Given the description of an element on the screen output the (x, y) to click on. 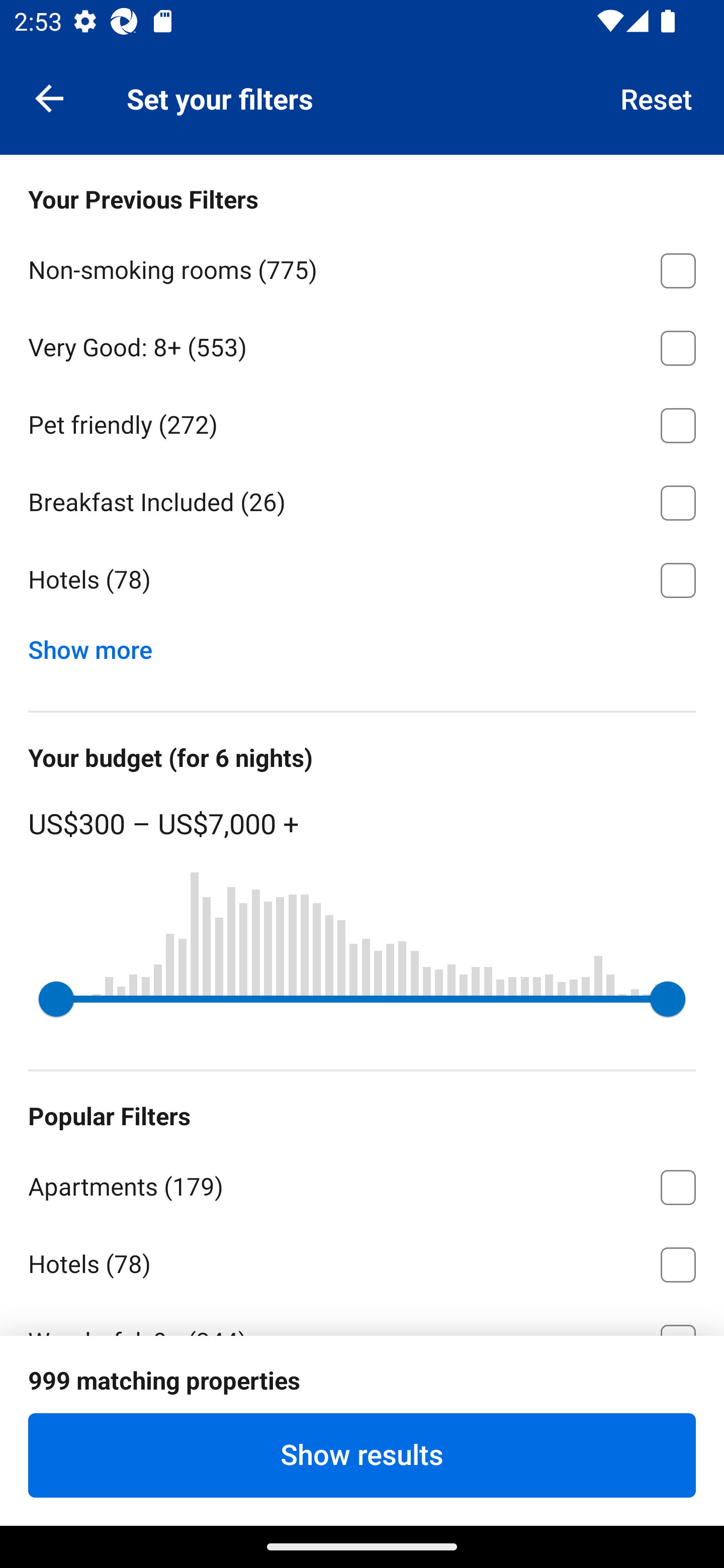
Navigate up (49, 97)
Reset (656, 97)
Non-smoking rooms ⁦(775) (361, 266)
Very Good: 8+ ⁦(553) (361, 344)
Pet friendly ⁦(272) (361, 422)
Breakfast Included ⁦(26) (361, 498)
Hotels ⁦(78) (361, 579)
Show more (97, 645)
Apartments ⁦(179) (361, 1183)
Hotels ⁦(78) (361, 1261)
Show results (361, 1454)
